Given the description of an element on the screen output the (x, y) to click on. 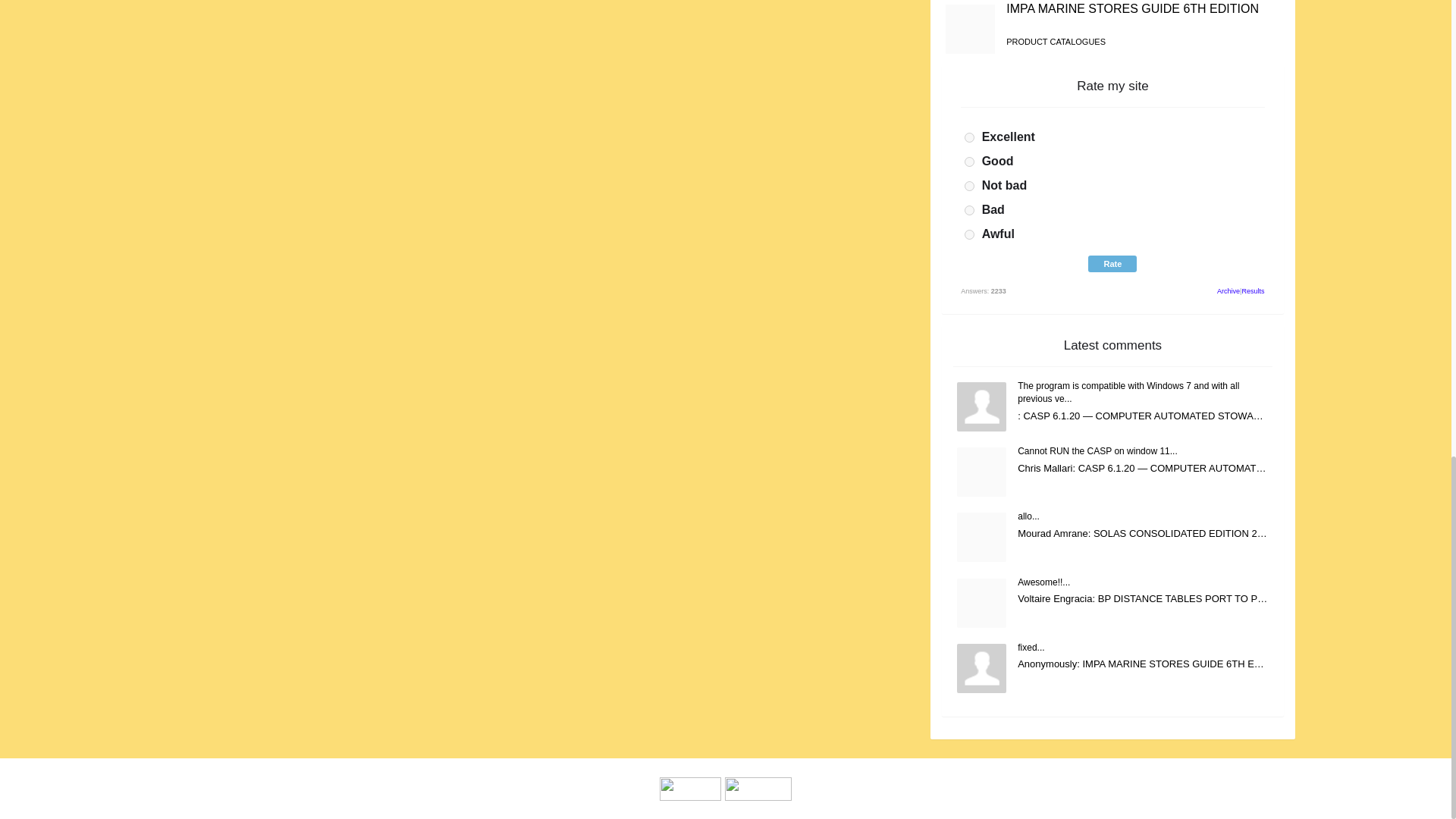
IMPA MARINE STORES GUIDE 6TH EDITION (1132, 8)
1 (968, 137)
Rate (1112, 263)
PRODUCT CATALOGUES (1055, 40)
4 (968, 210)
5 (968, 234)
3 (968, 185)
2 (968, 162)
uCoz Counter (758, 788)
